Given the description of an element on the screen output the (x, y) to click on. 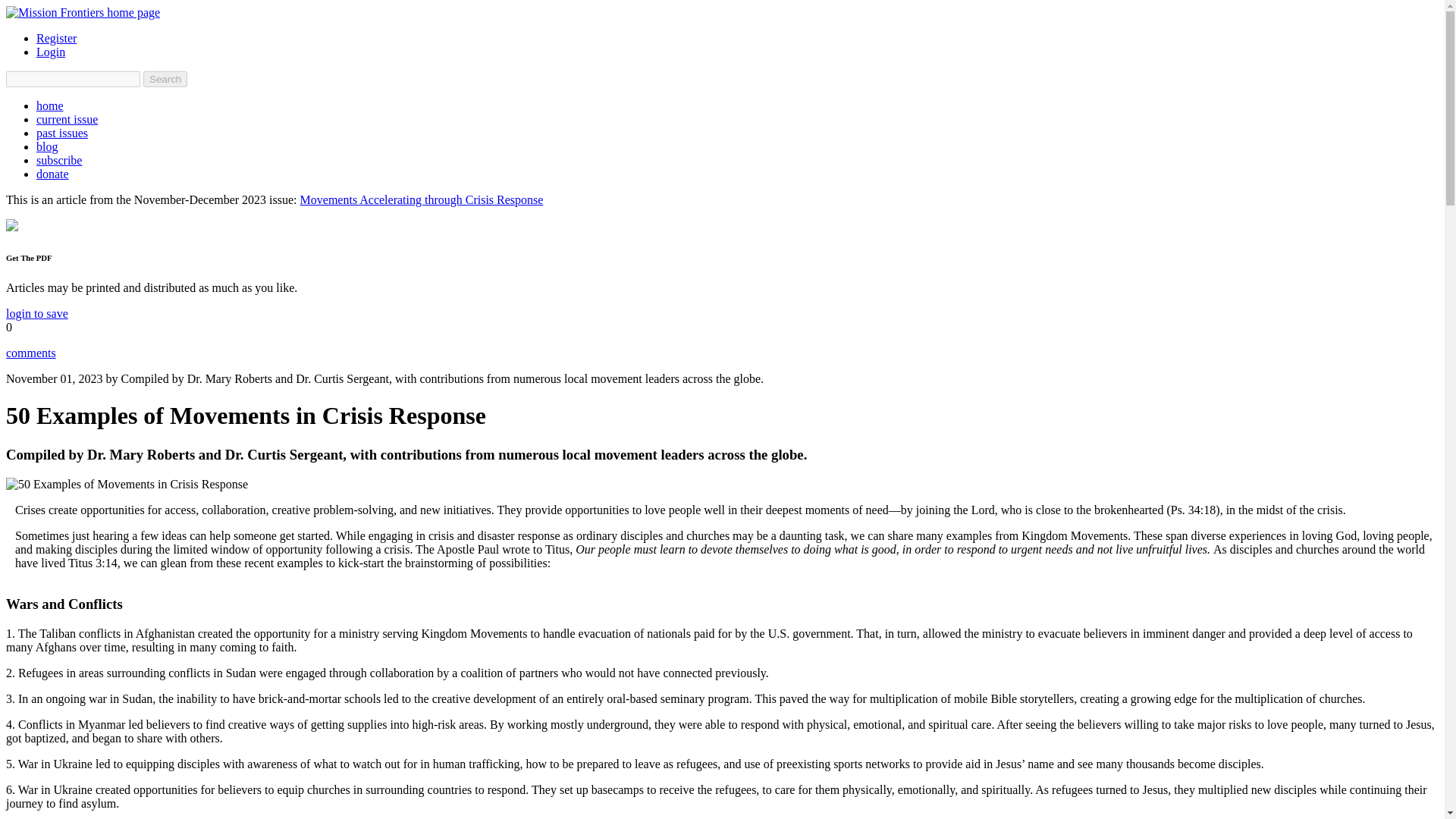
subscribe (58, 160)
home (50, 105)
Search (164, 78)
current issue (66, 119)
Login (50, 51)
comments (30, 352)
donate (52, 173)
blog (47, 146)
Search (164, 78)
past issues (61, 132)
Movements Accelerating through Crisis Response (421, 199)
Register (56, 38)
login to save (36, 313)
